Given the description of an element on the screen output the (x, y) to click on. 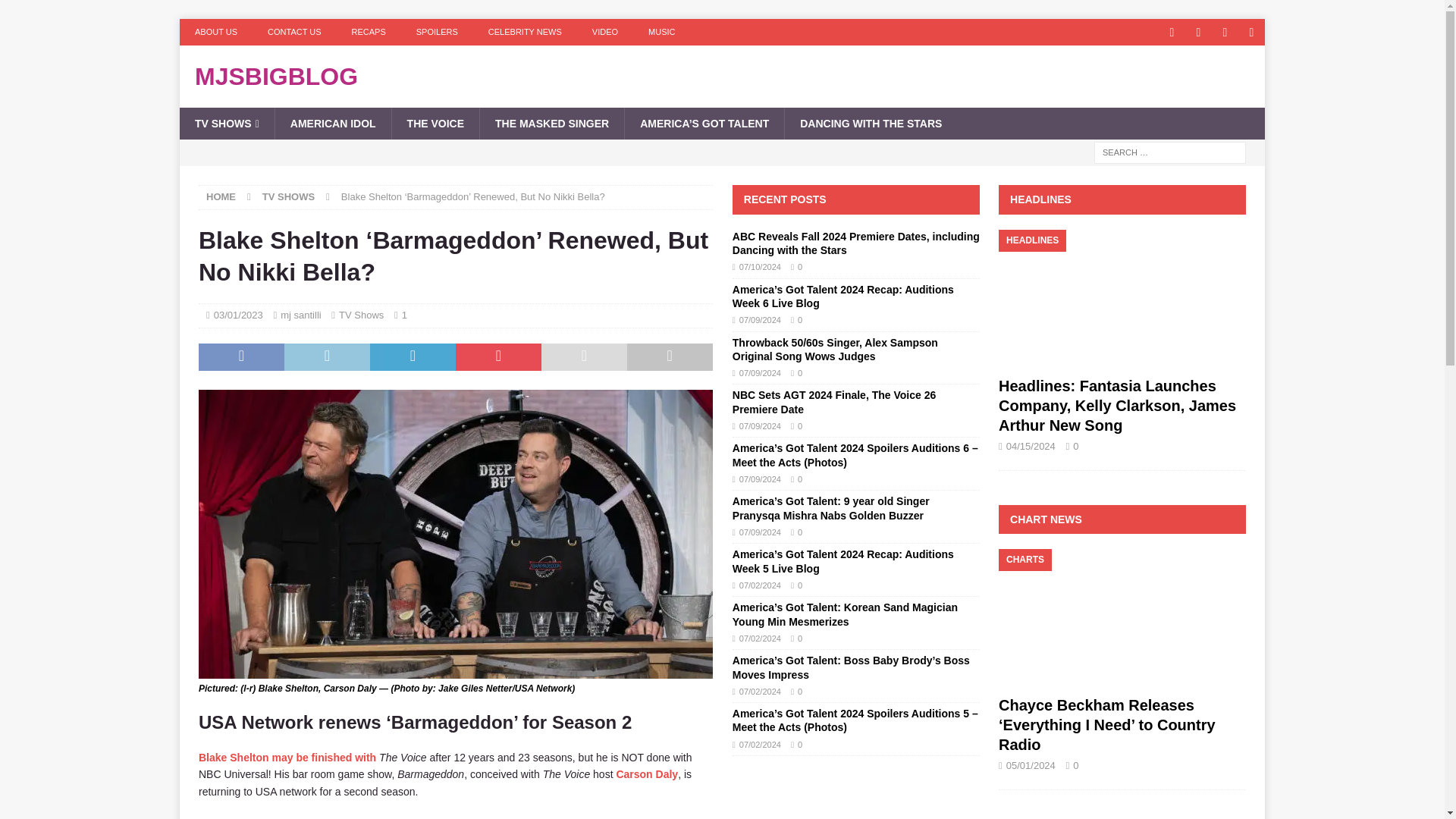
TV SHOWS (227, 123)
THE MASKED SINGER (551, 123)
RECAPS (368, 31)
AMERICAN IDOL (333, 123)
CELEBRITY NEWS (524, 31)
mjsbigblog (722, 76)
VIDEO (604, 31)
TV SHOWS (288, 196)
CONTACT US (293, 31)
